Given the description of an element on the screen output the (x, y) to click on. 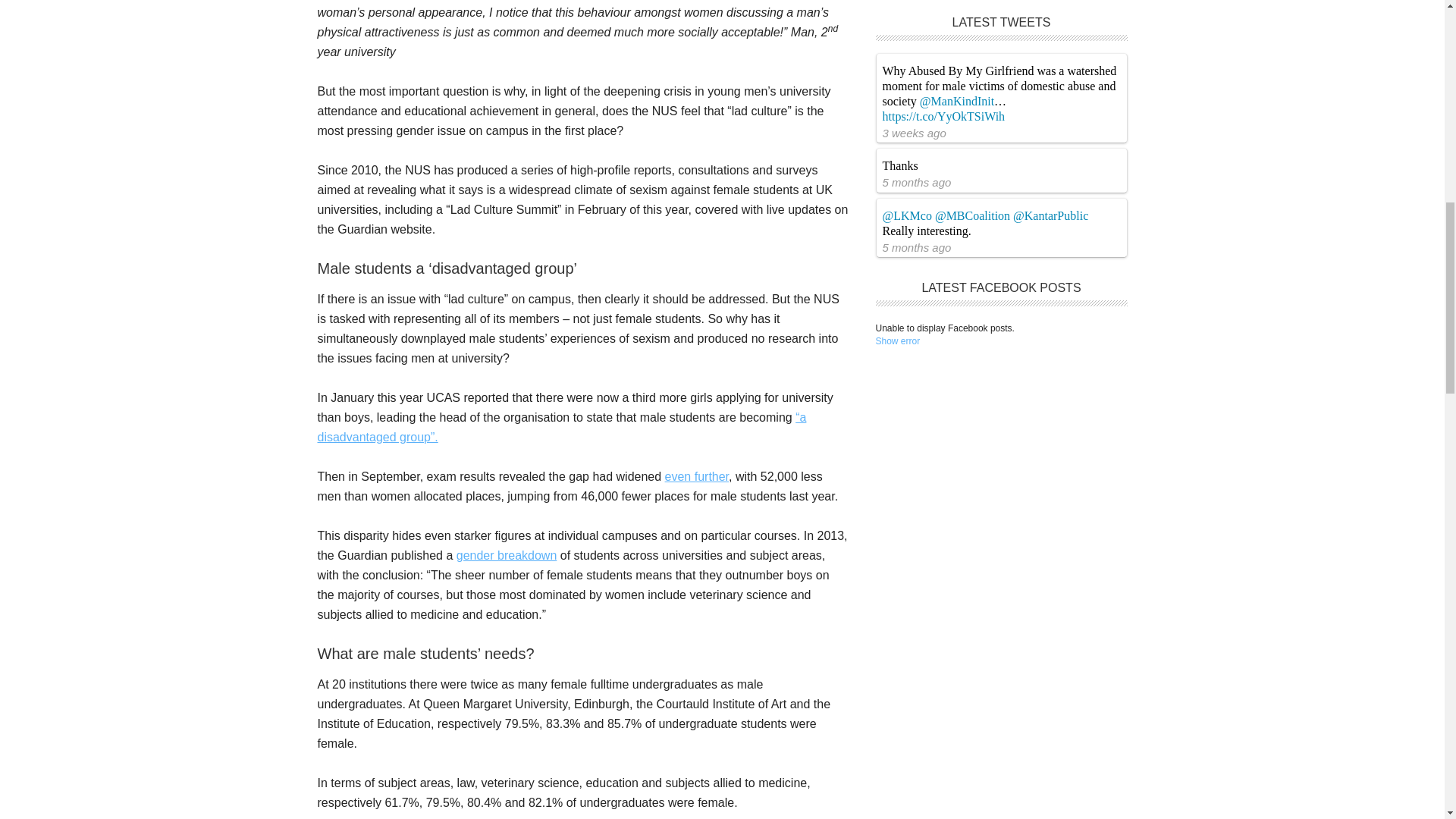
5 months ago (917, 182)
even further (697, 476)
gender breakdown (507, 554)
3 weeks ago (914, 132)
